Given the description of an element on the screen output the (x, y) to click on. 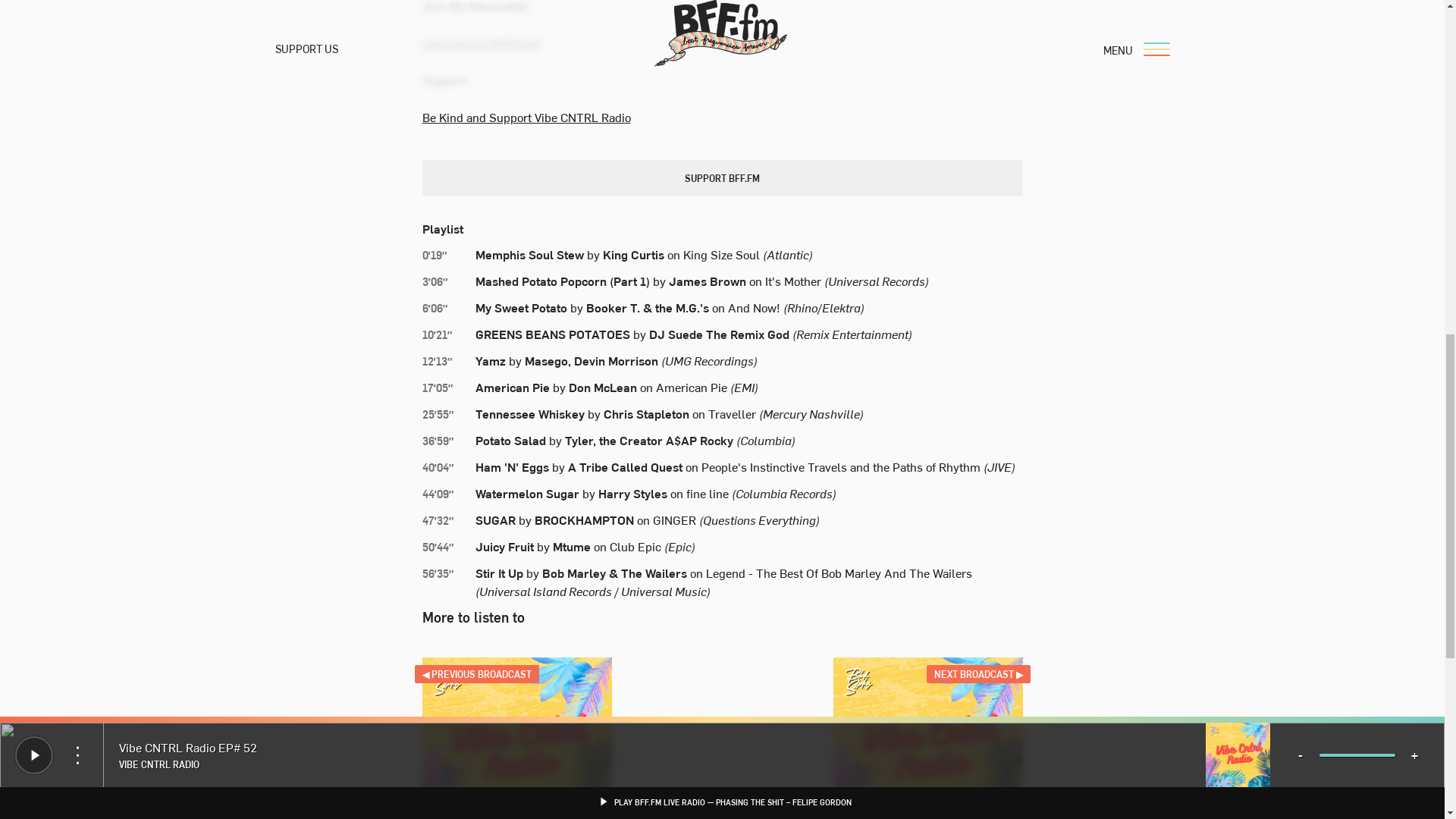
3:00:19pm (448, 255)
GREENS BEANS POTATOES (551, 333)
3:03:06pm (448, 281)
James Brown (706, 280)
3:06:06pm (448, 308)
3:12:13pm (448, 361)
3:10:21pm (448, 334)
And Now! (754, 306)
3:36:59pm (448, 441)
Donate to BFF.FM to help support the station (722, 177)
Be Kind and Support Vibe CNTRL Radio (526, 116)
My Sweet Potato (520, 306)
3:17:05pm (448, 388)
It's Mother (792, 280)
King Curtis (632, 253)
